Given the description of an element on the screen output the (x, y) to click on. 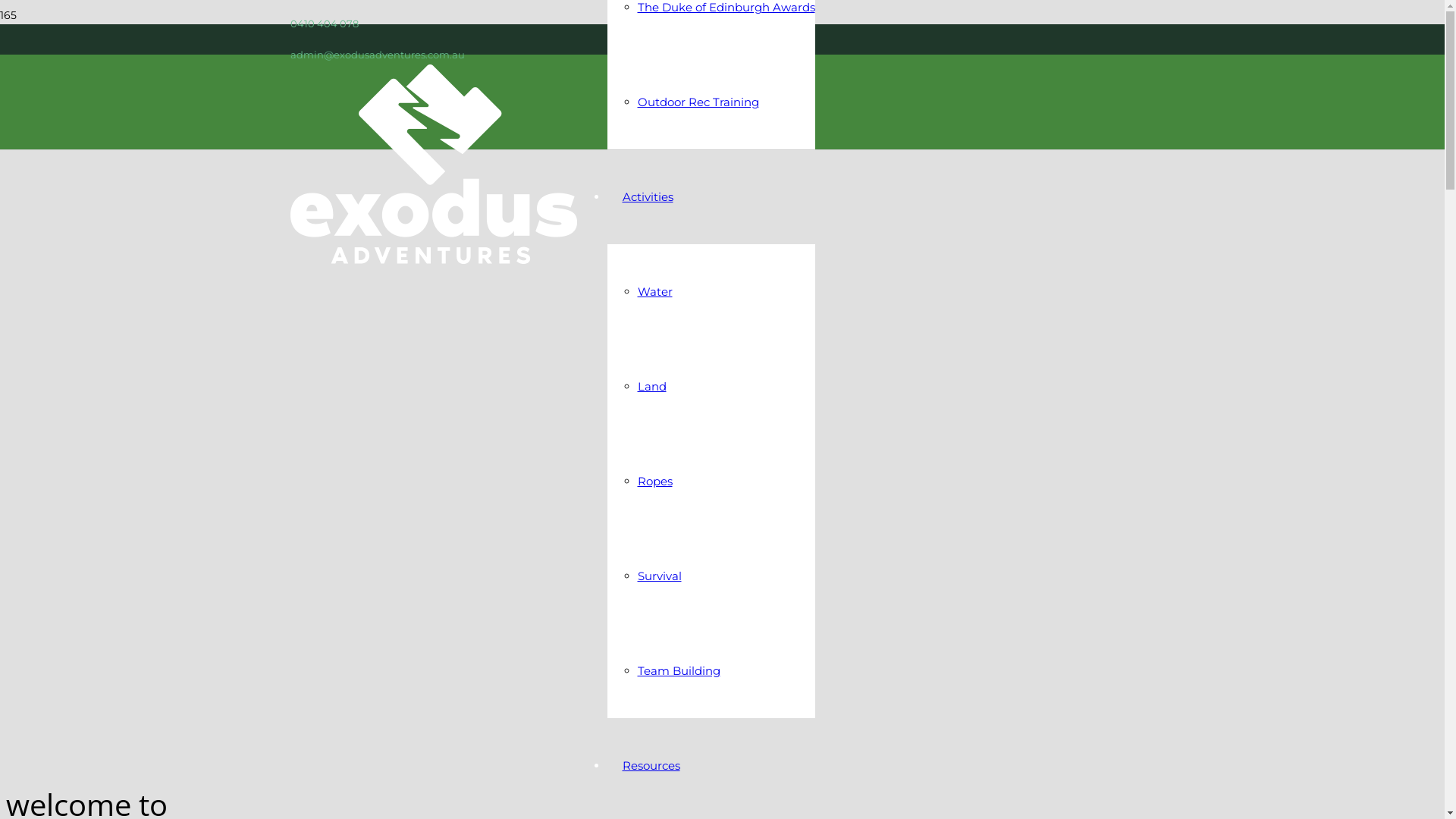
Team Building Element type: text (678, 670)
Outdoor Rec Training Element type: text (697, 101)
Activities Element type: text (646, 196)
Land Element type: text (651, 386)
Water Element type: text (654, 291)
The Duke of Edinburgh Awards Element type: text (725, 7)
Survival Element type: text (658, 575)
Resources Element type: text (650, 765)
Ropes Element type: text (654, 480)
